Given the description of an element on the screen output the (x, y) to click on. 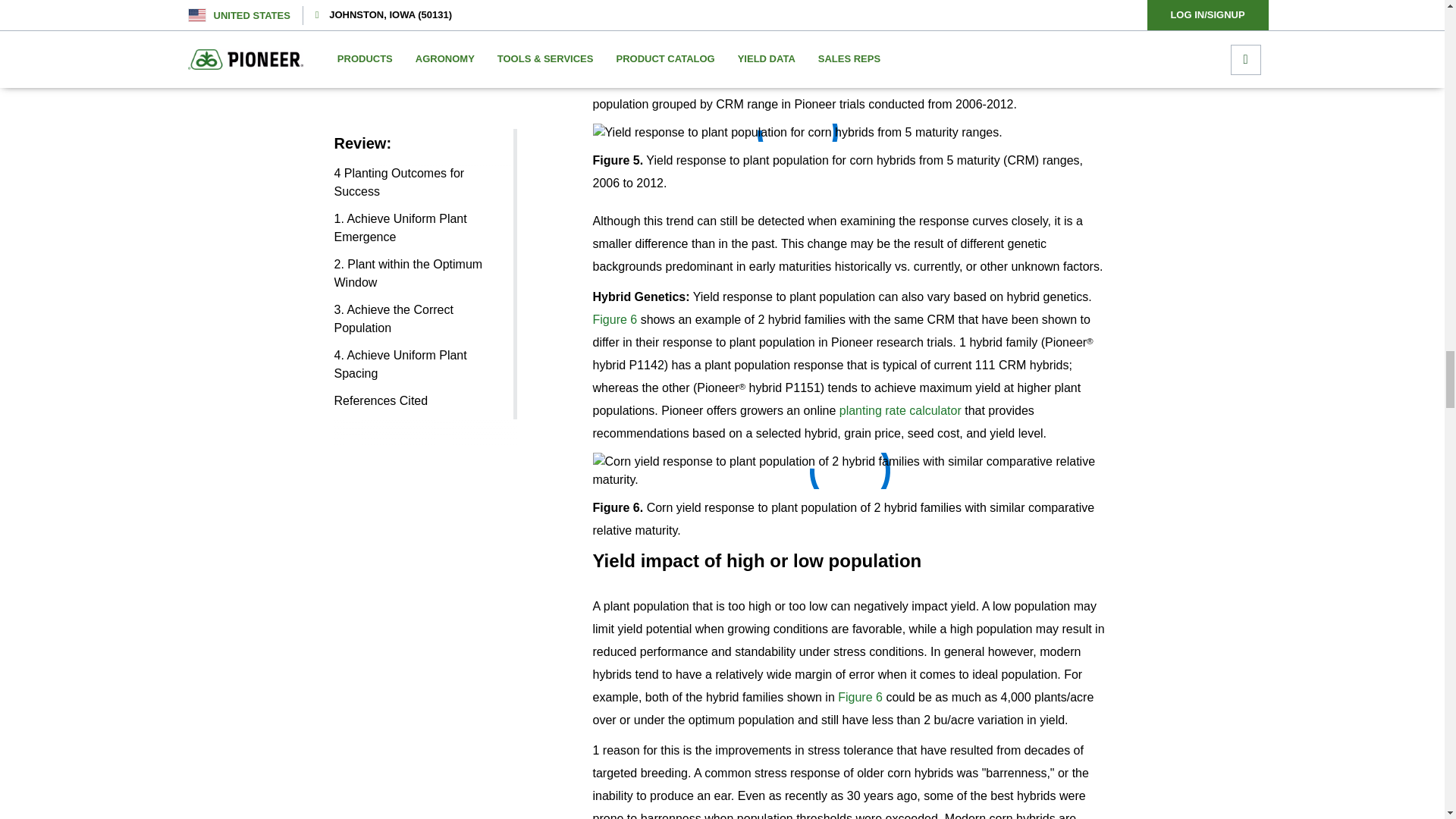
Planting Rate Estimator (900, 410)
